Given the description of an element on the screen output the (x, y) to click on. 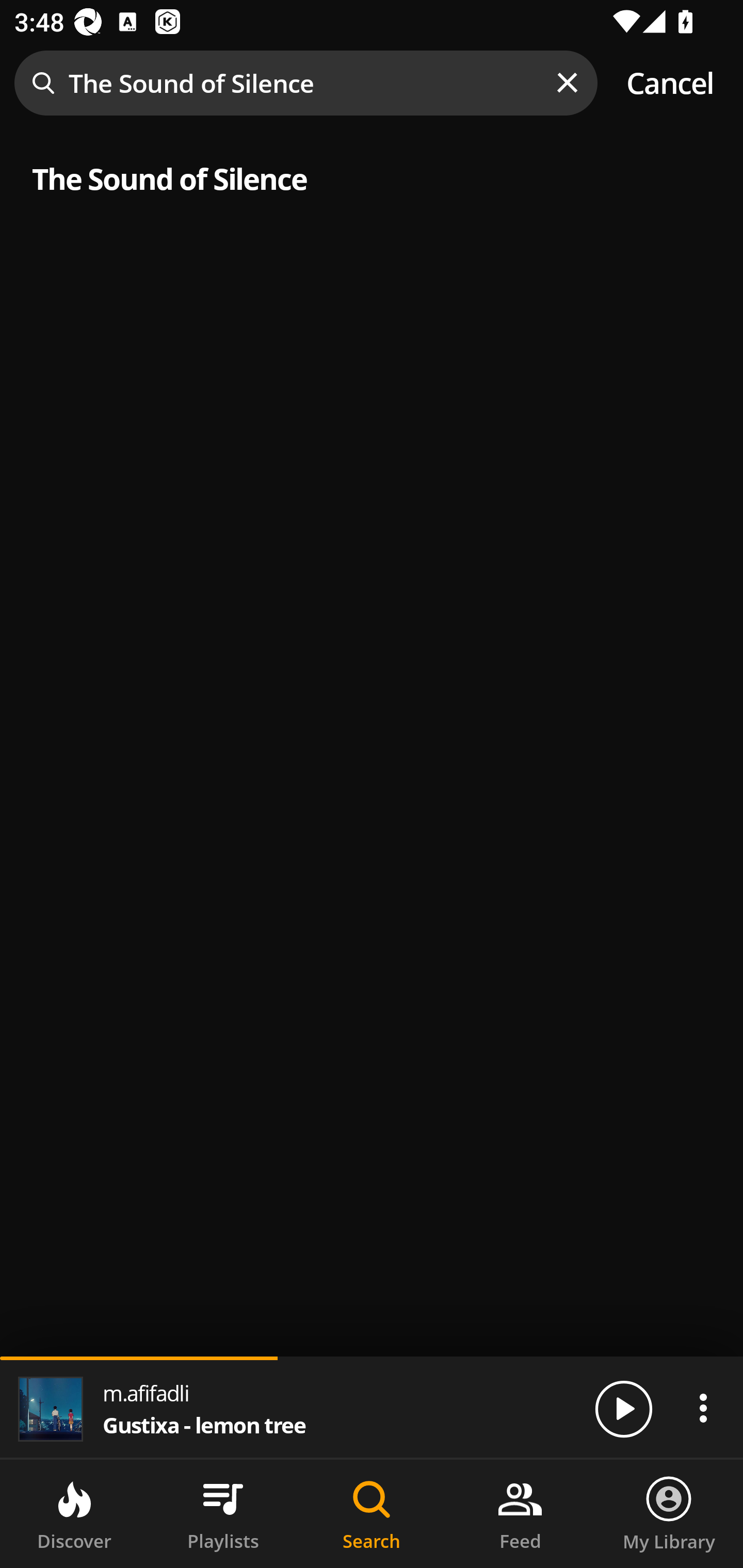
The Sound of Silence Cancel (371, 82)
Cancel (670, 82)
The Sound of Silence (371, 176)
Actions (703, 1407)
Play/Pause (623, 1408)
Discover (74, 1513)
Playlists (222, 1513)
Search (371, 1513)
Feed (519, 1513)
My Library (668, 1513)
